Given the description of an element on the screen output the (x, y) to click on. 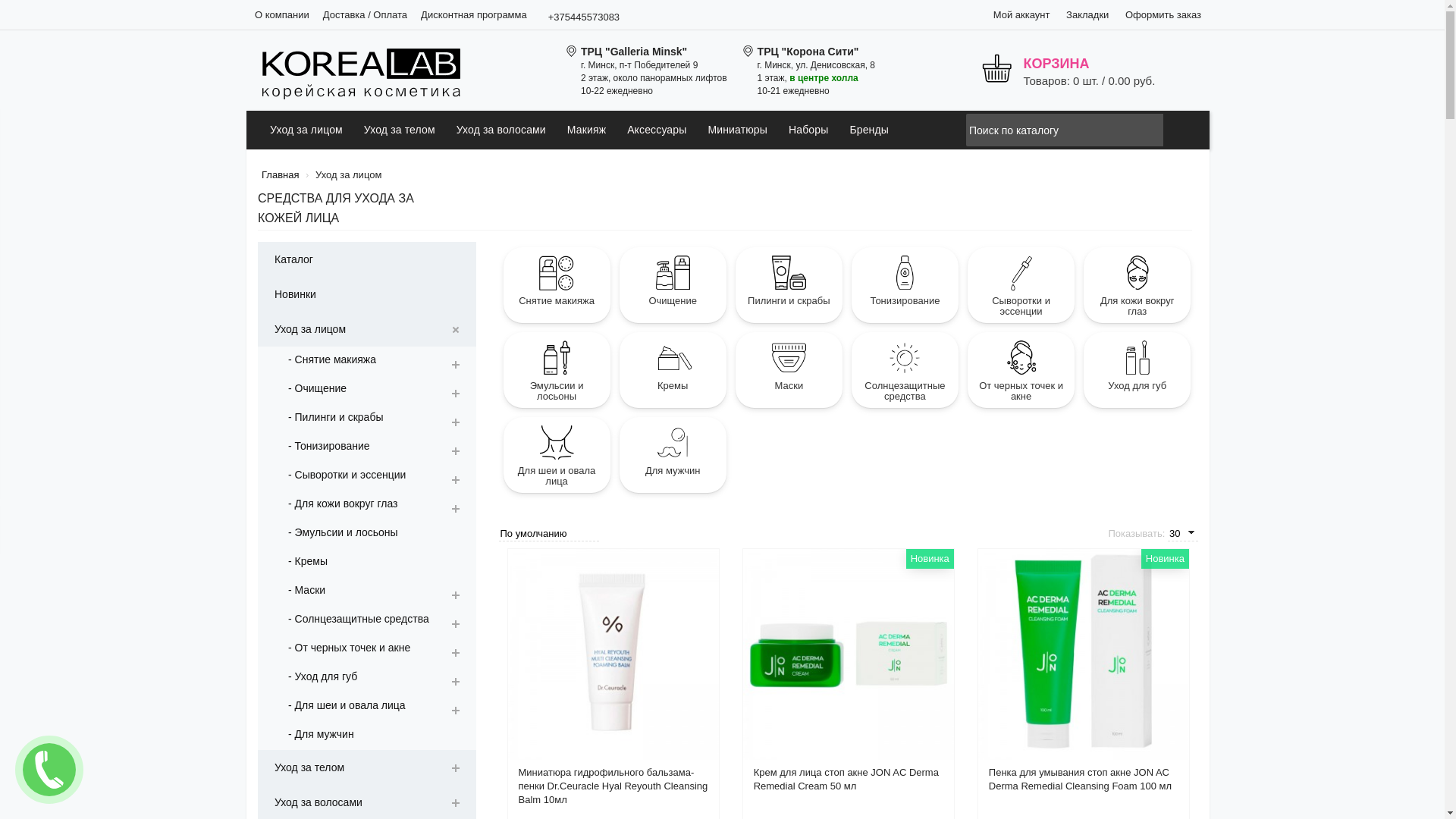
+375445573083 Element type: text (587, 17)
